Given the description of an element on the screen output the (x, y) to click on. 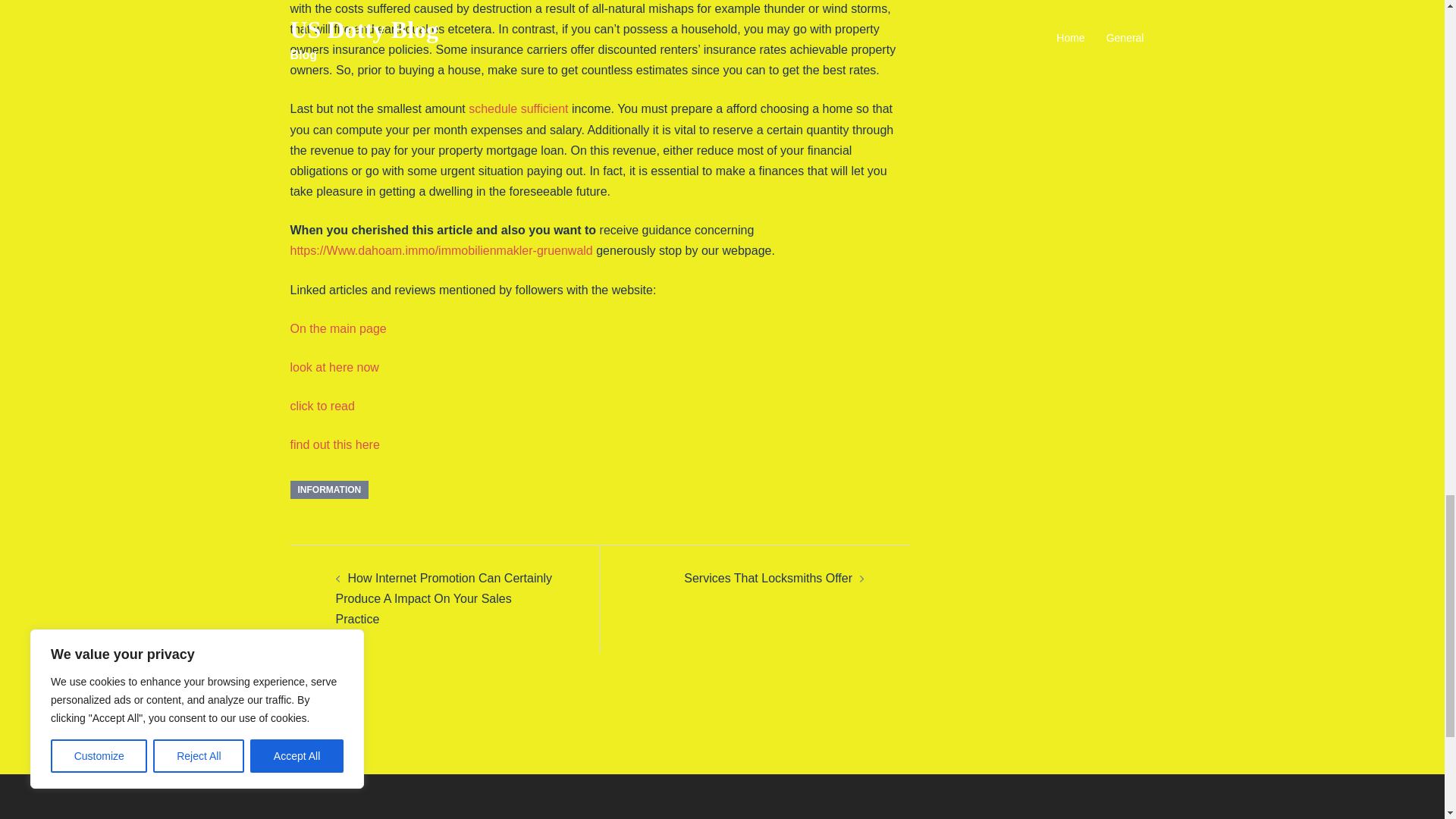
click to read (321, 405)
find out this here (333, 444)
On the main page (337, 328)
schedule sufficient (517, 108)
look at here now (333, 367)
INFORMATION (328, 489)
Services That Locksmiths Offer (767, 577)
